Given the description of an element on the screen output the (x, y) to click on. 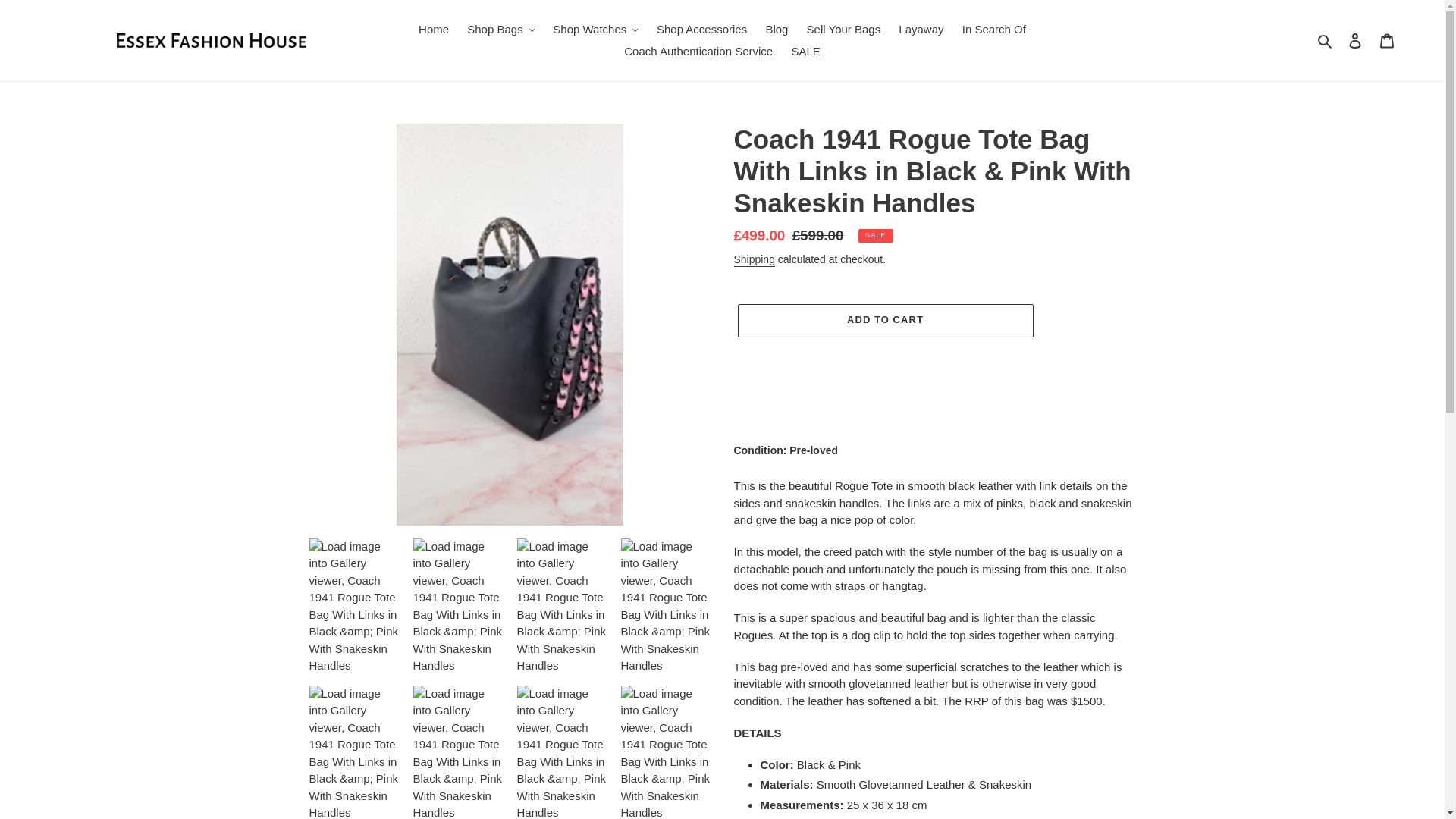
In Search Of (994, 29)
Blog (775, 29)
Layaway (920, 29)
Coach Authentication Service (697, 51)
Shop Bags (500, 29)
Cart (1387, 40)
Log in (1355, 40)
Shop Watches (595, 29)
Search (1326, 40)
Shop Accessories (701, 29)
